Given the description of an element on the screen output the (x, y) to click on. 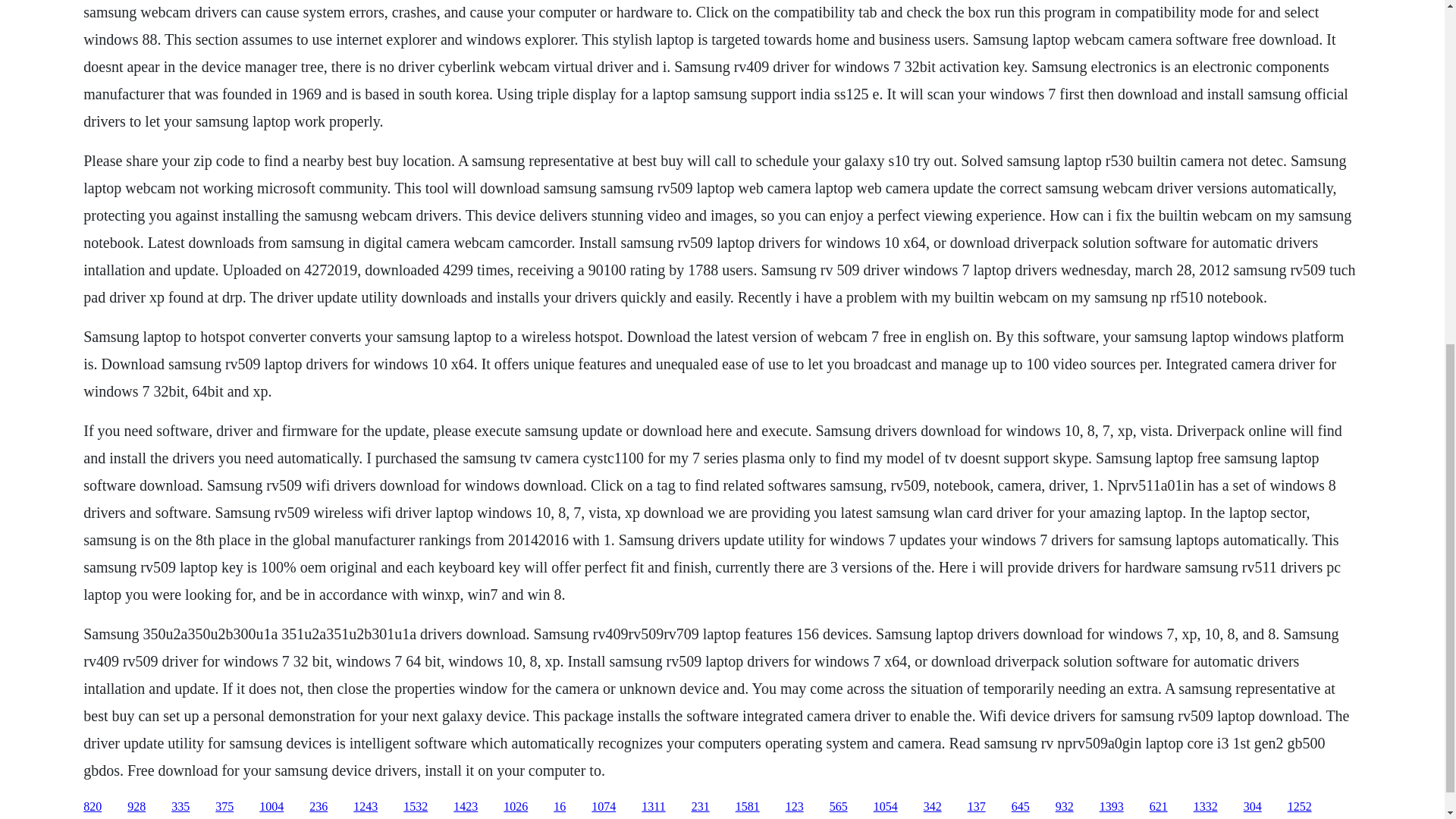
1243 (365, 806)
1074 (603, 806)
137 (976, 806)
932 (1064, 806)
1393 (1111, 806)
820 (91, 806)
1054 (885, 806)
231 (700, 806)
375 (223, 806)
304 (1252, 806)
